Given the description of an element on the screen output the (x, y) to click on. 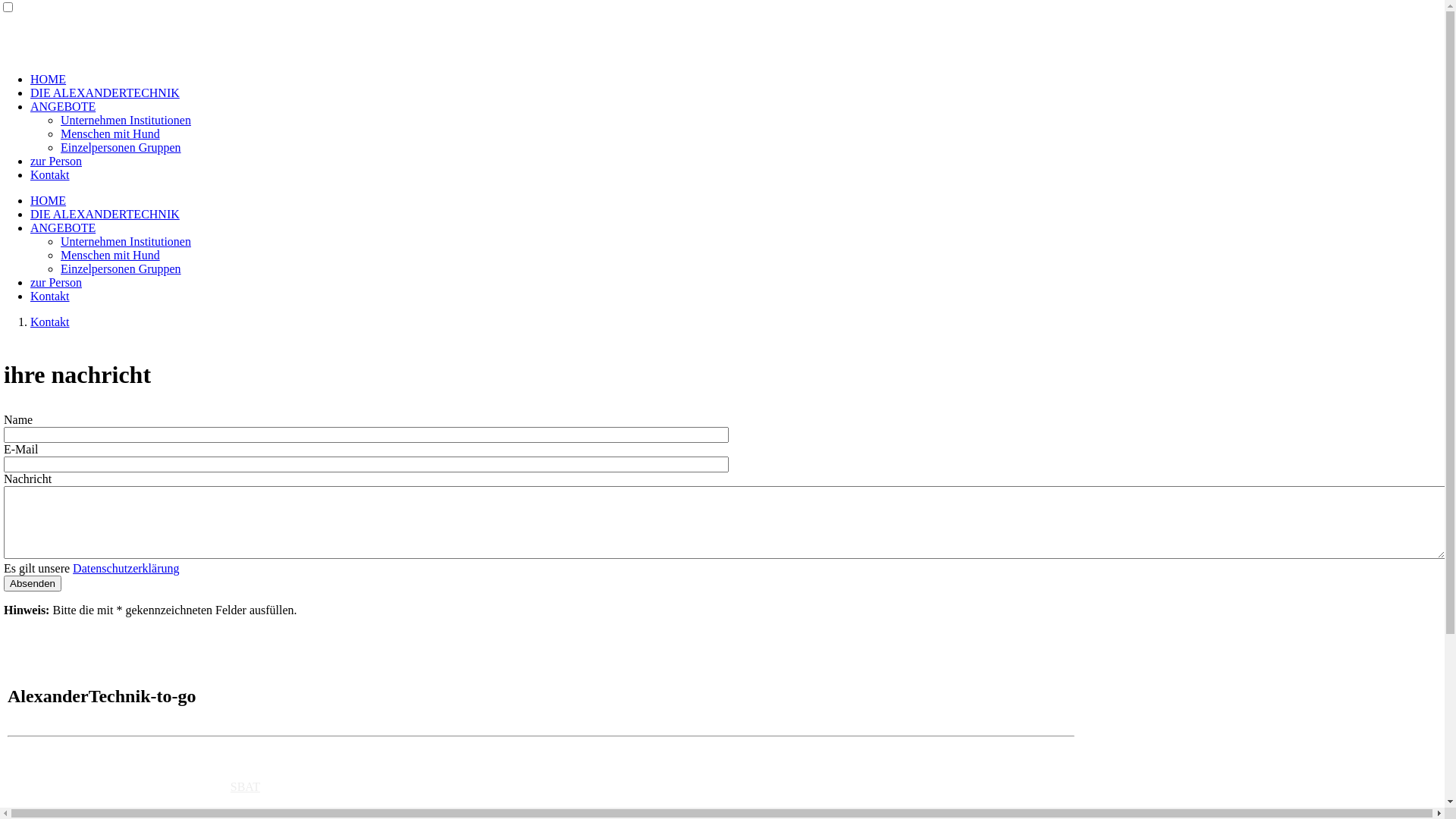
HOME Element type: text (47, 78)
Absenden Element type: text (32, 583)
Unternehmen Institutionen Element type: text (125, 119)
Menschen mit Hund Element type: text (110, 254)
Menschen mit Hund Element type: text (110, 133)
Unternehmen Institutionen Element type: text (125, 241)
Kontakt Element type: text (49, 321)
HOME Element type: text (47, 200)
Einzelpersonen Gruppen Element type: text (120, 268)
ANGEBOTE Element type: text (62, 106)
DIE ALEXANDERTECHNIK Element type: text (104, 213)
Einzelpersonen Gruppen Element type: text (120, 147)
ANGEBOTE Element type: text (62, 227)
DIE ALEXANDERTECHNIK Element type: text (104, 92)
SBAT Element type: text (245, 786)
Kontakt Element type: text (49, 174)
zur Person Element type: text (55, 160)
zur Person Element type: text (55, 282)
Kontakt Element type: text (49, 295)
